Given the description of an element on the screen output the (x, y) to click on. 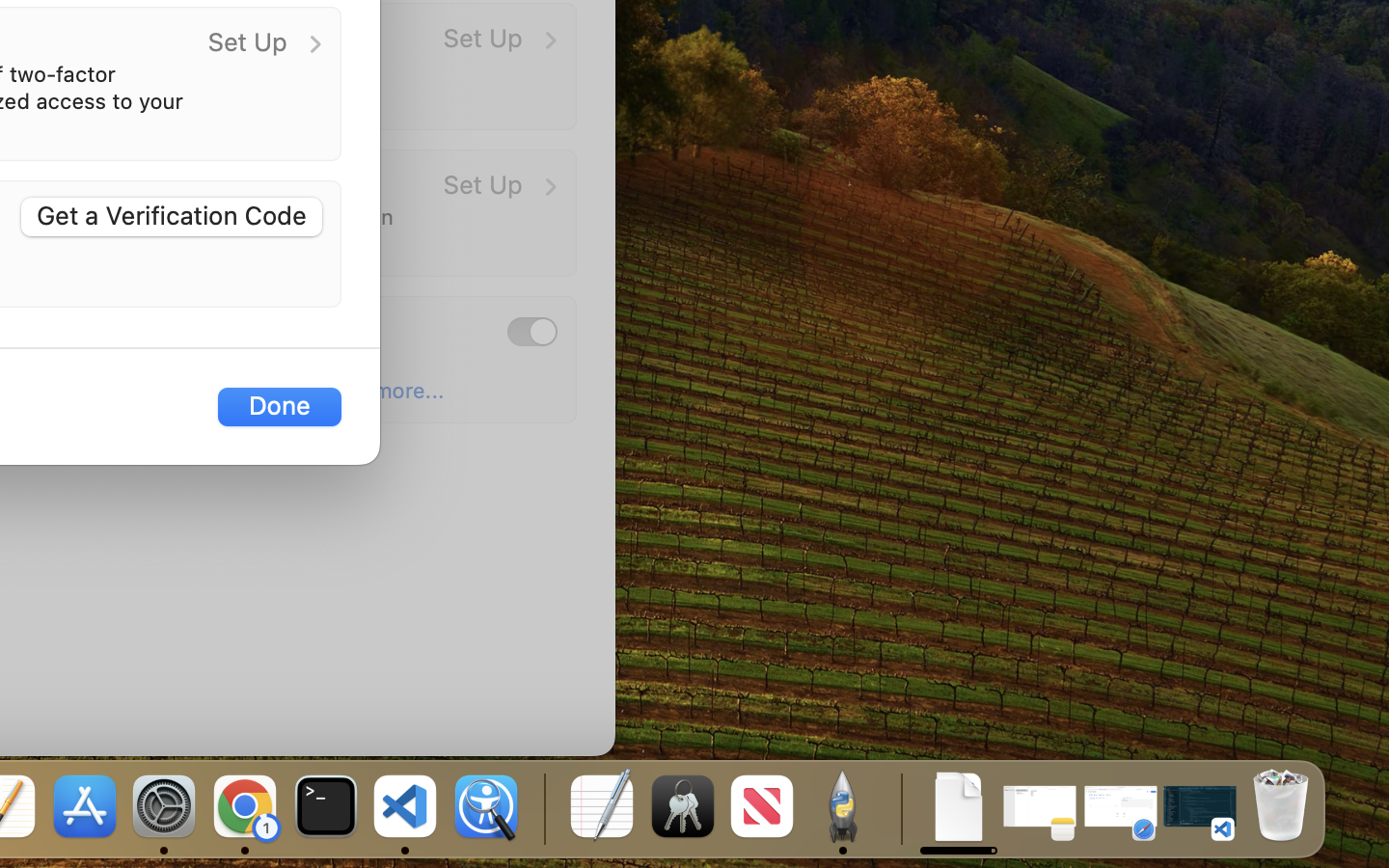
0.4285714328289032 Element type: AXDockItem (541, 807)
1 Element type: AXCheckBox (532, 330)
